Given the description of an element on the screen output the (x, y) to click on. 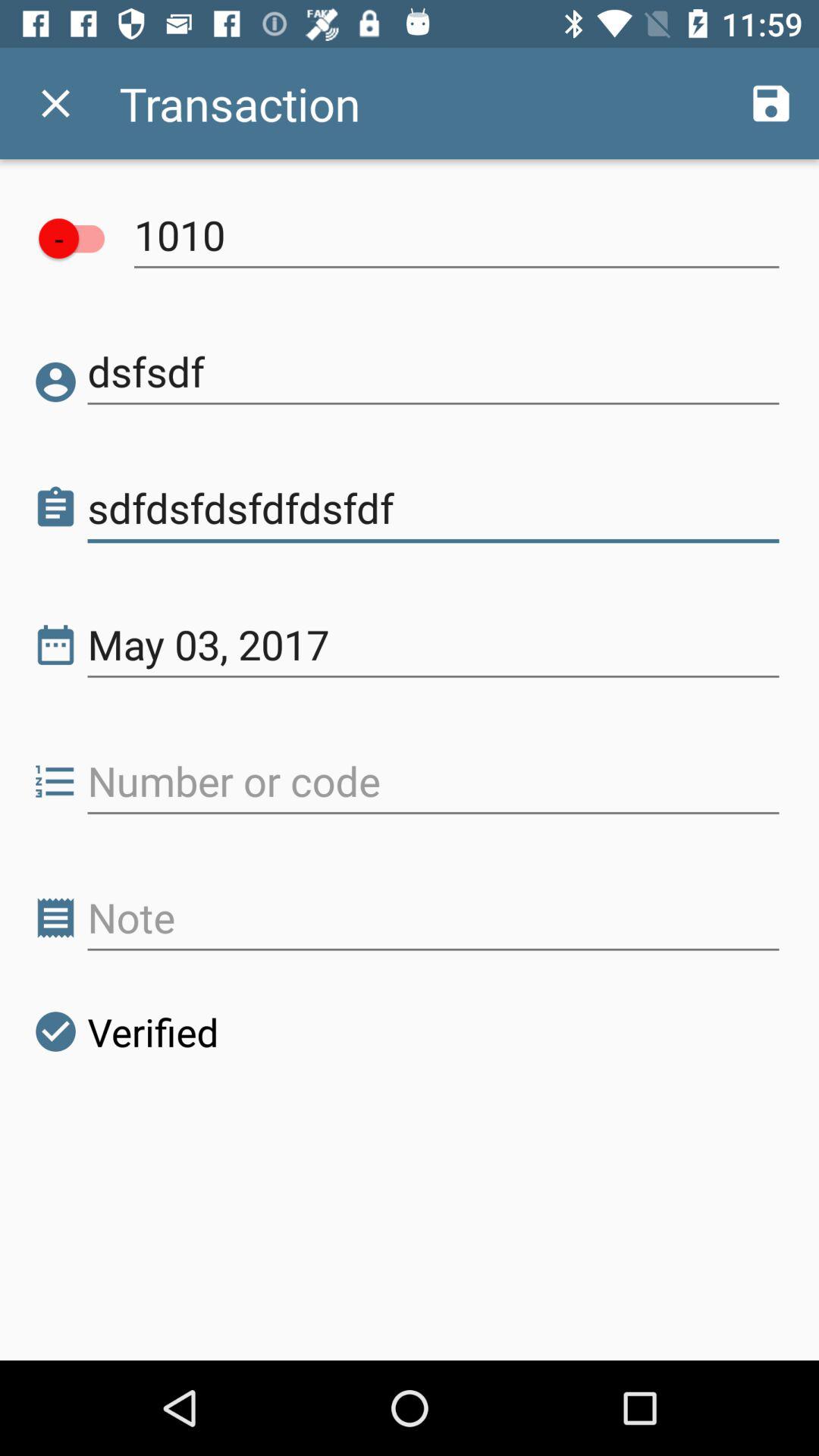
select may 03, 2017 item (433, 644)
